Given the description of an element on the screen output the (x, y) to click on. 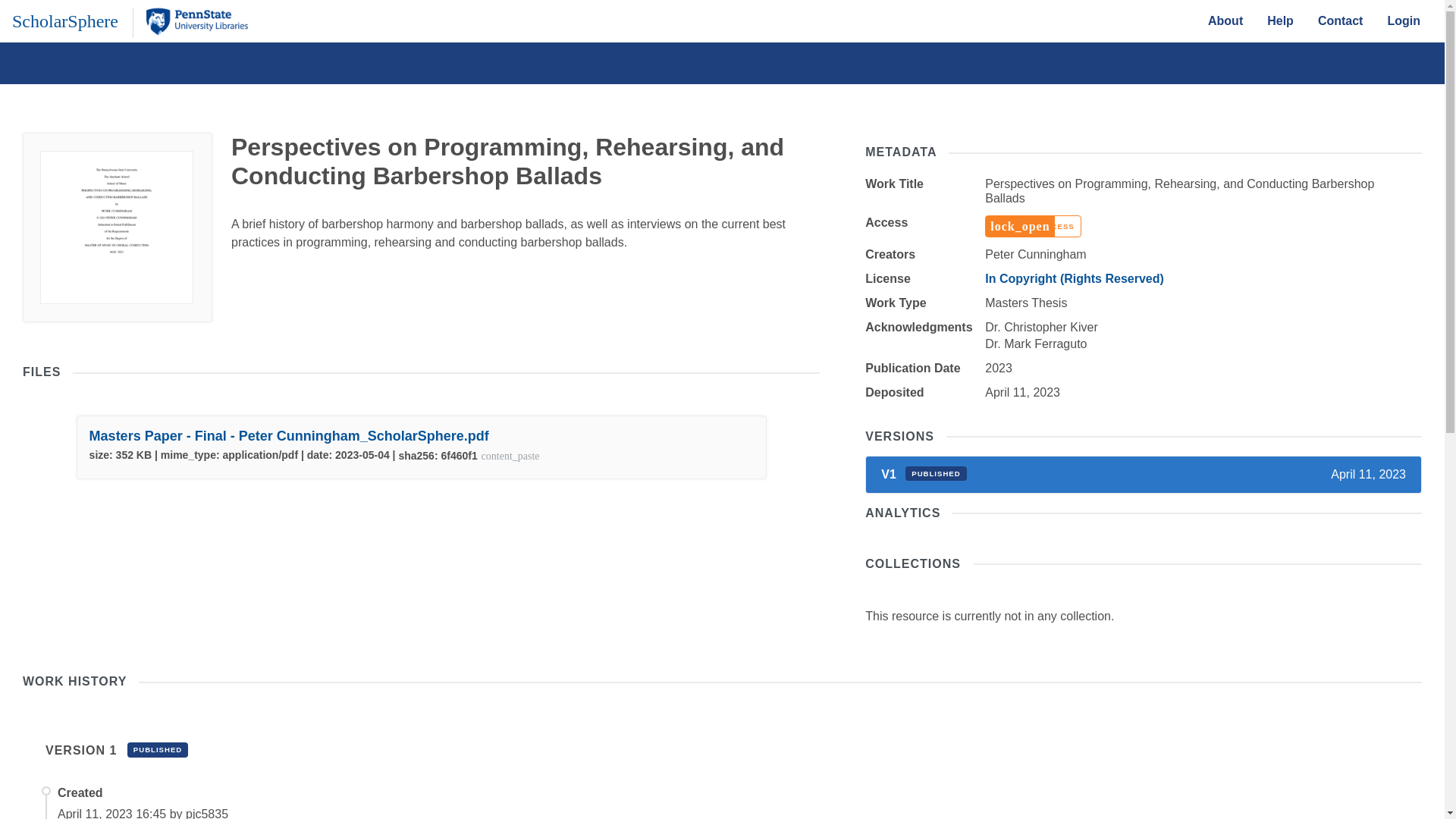
Login (1403, 20)
About (1225, 20)
V1 PUBLISHED (923, 473)
Help (1280, 20)
Contact (1340, 20)
ScholarSphere (64, 20)
